Given the description of an element on the screen output the (x, y) to click on. 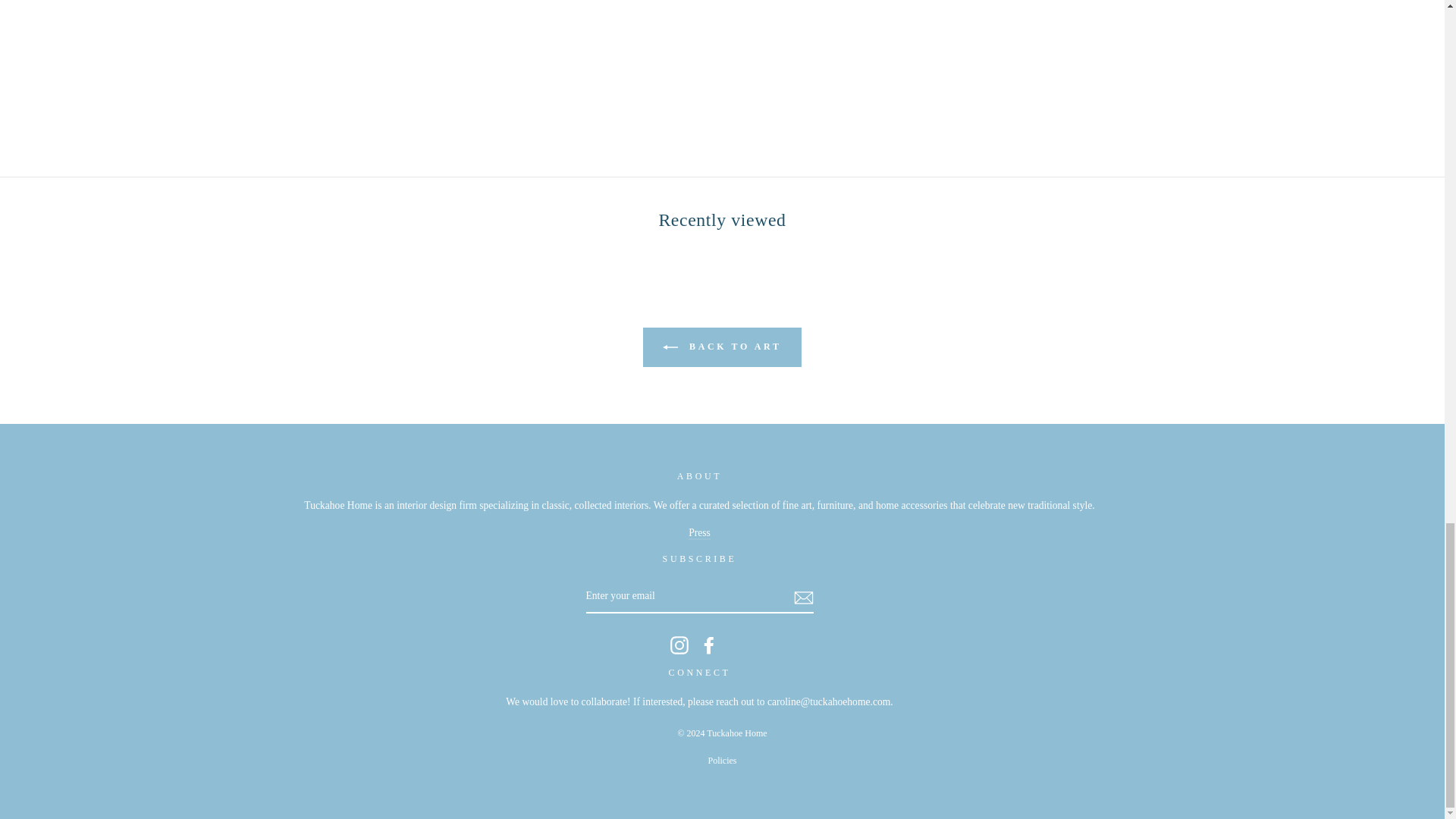
Facebook (707, 645)
BACK TO ART (721, 346)
Press (699, 533)
Policies (721, 760)
Tuckahoe Home on Instagram (678, 645)
Tuckahoe Home on Facebook (707, 645)
Instagram (678, 645)
